Given the description of an element on the screen output the (x, y) to click on. 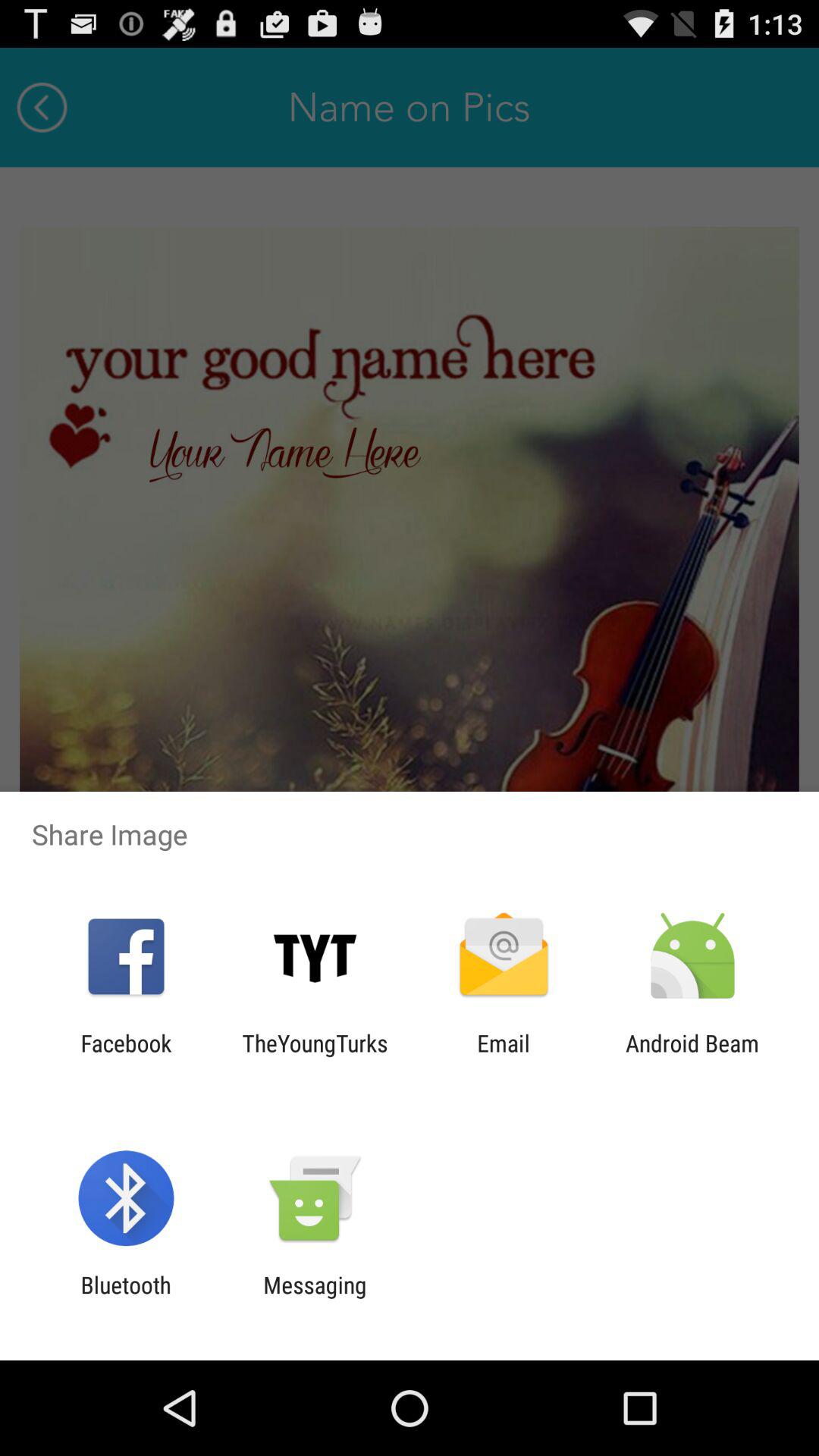
swipe until the bluetooth item (125, 1298)
